Given the description of an element on the screen output the (x, y) to click on. 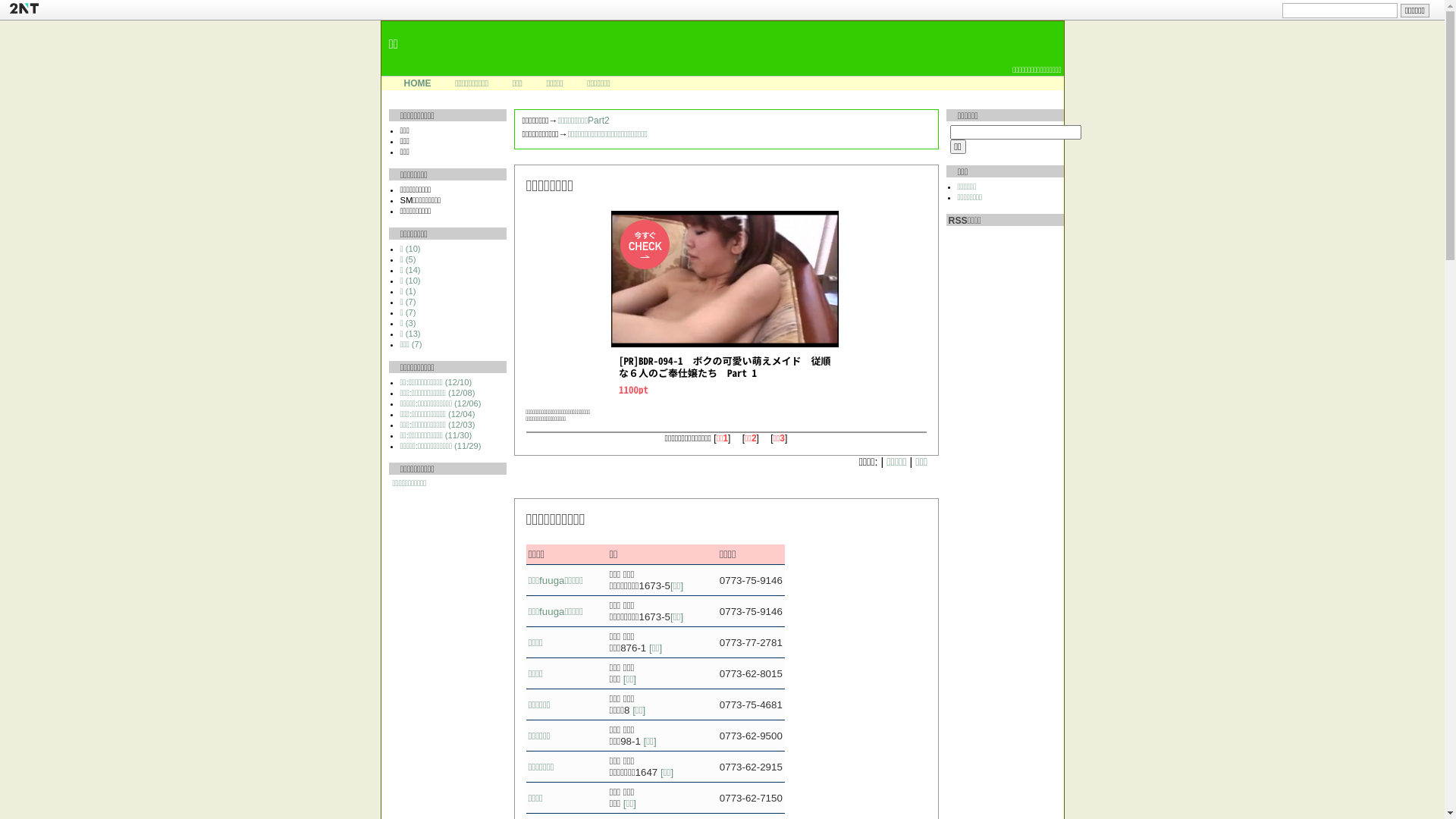
HOME Element type: text (416, 83)
